Given the description of an element on the screen output the (x, y) to click on. 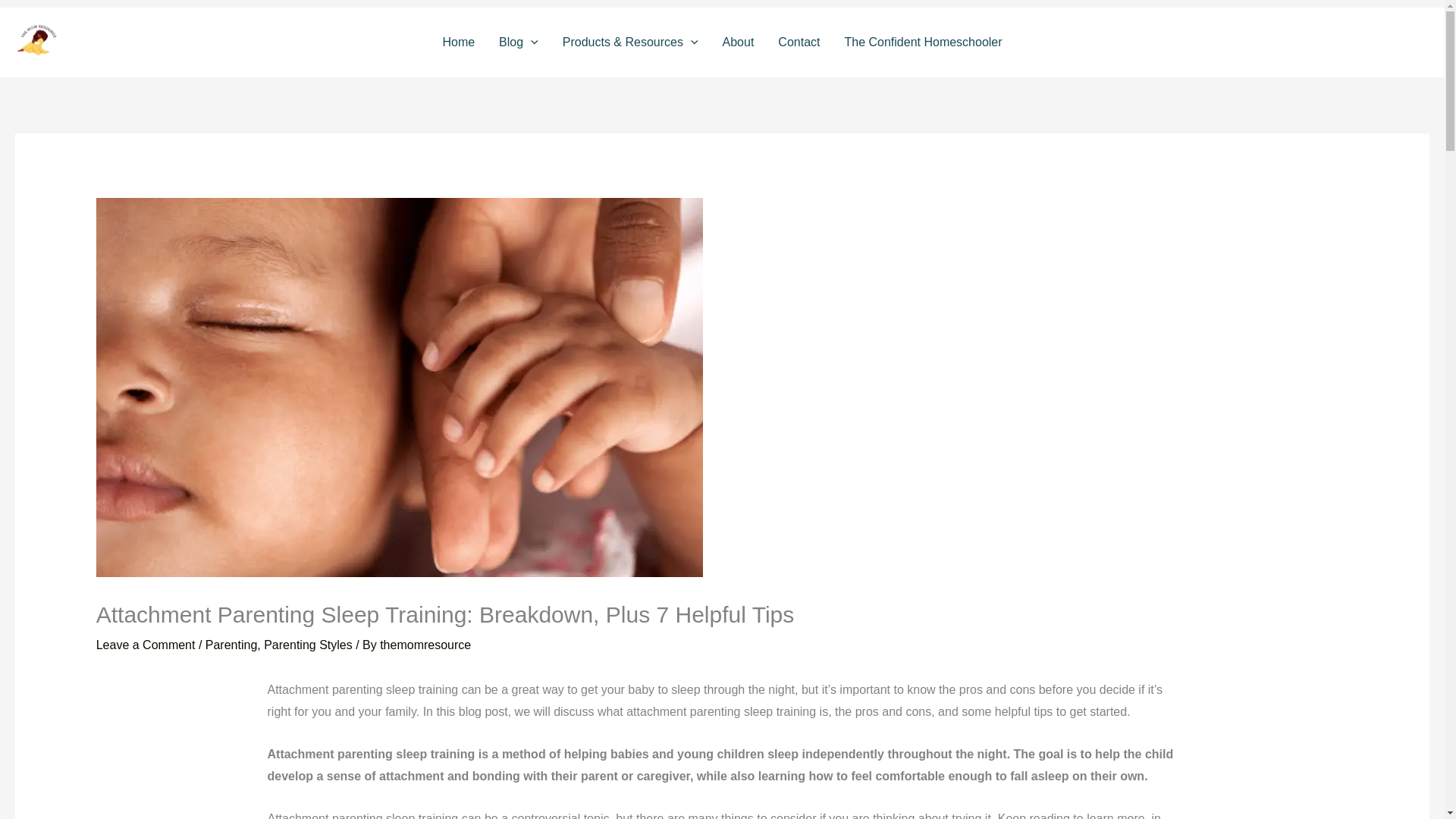
The Confident Homeschooler (922, 41)
Blog (518, 41)
Home (457, 41)
Contact (798, 41)
View all posts by themomresource (425, 644)
About (738, 41)
